Given the description of an element on the screen output the (x, y) to click on. 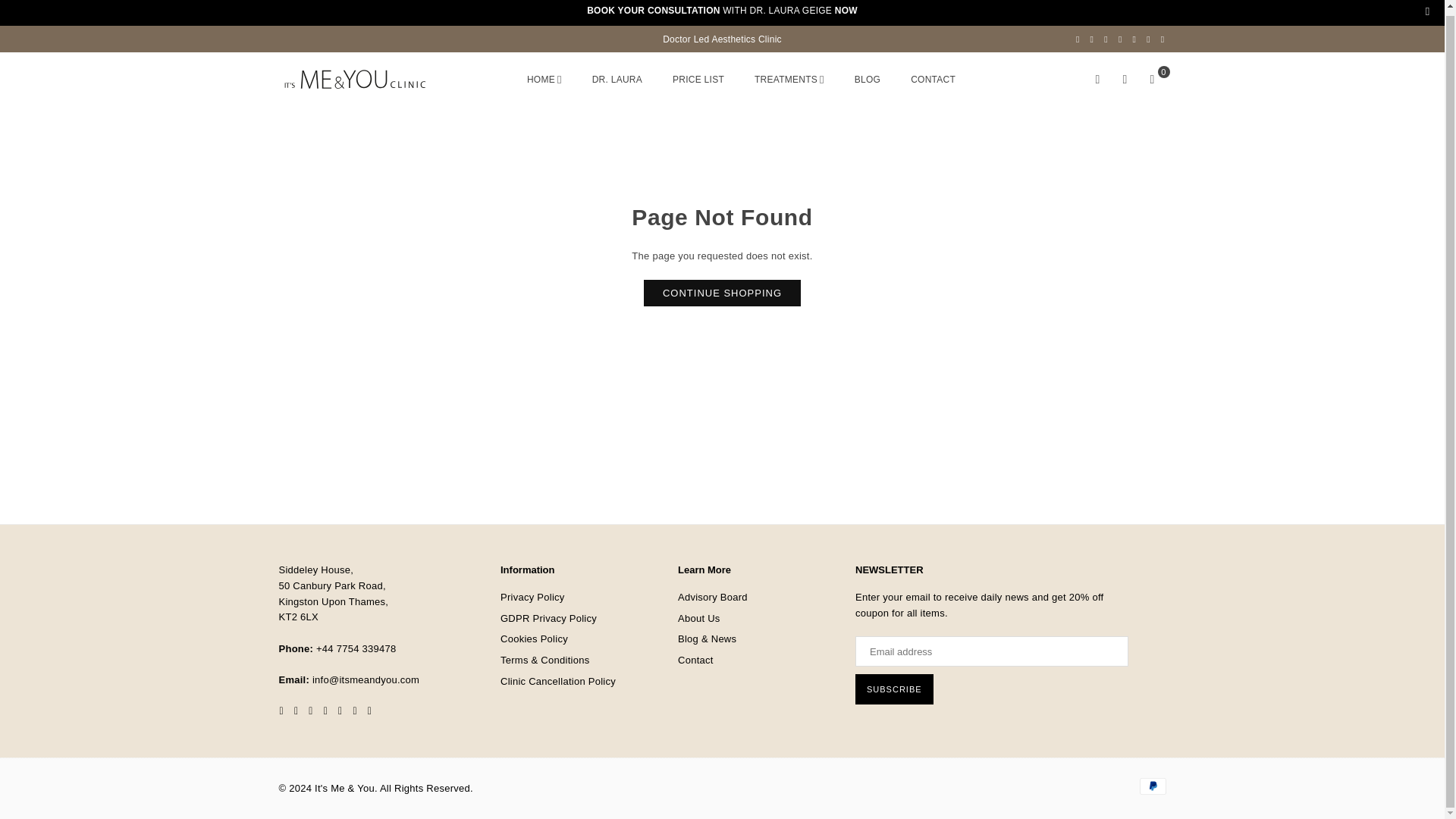
Whatsapp (1163, 39)
DR. LAURA (616, 79)
Facebook (1077, 39)
Cart (1152, 79)
TikTok (1148, 39)
YouTube (1133, 39)
HOME (544, 79)
TREATMENTS (788, 79)
Pinterest (1106, 39)
Wishlist (1125, 79)
